Given the description of an element on the screen output the (x, y) to click on. 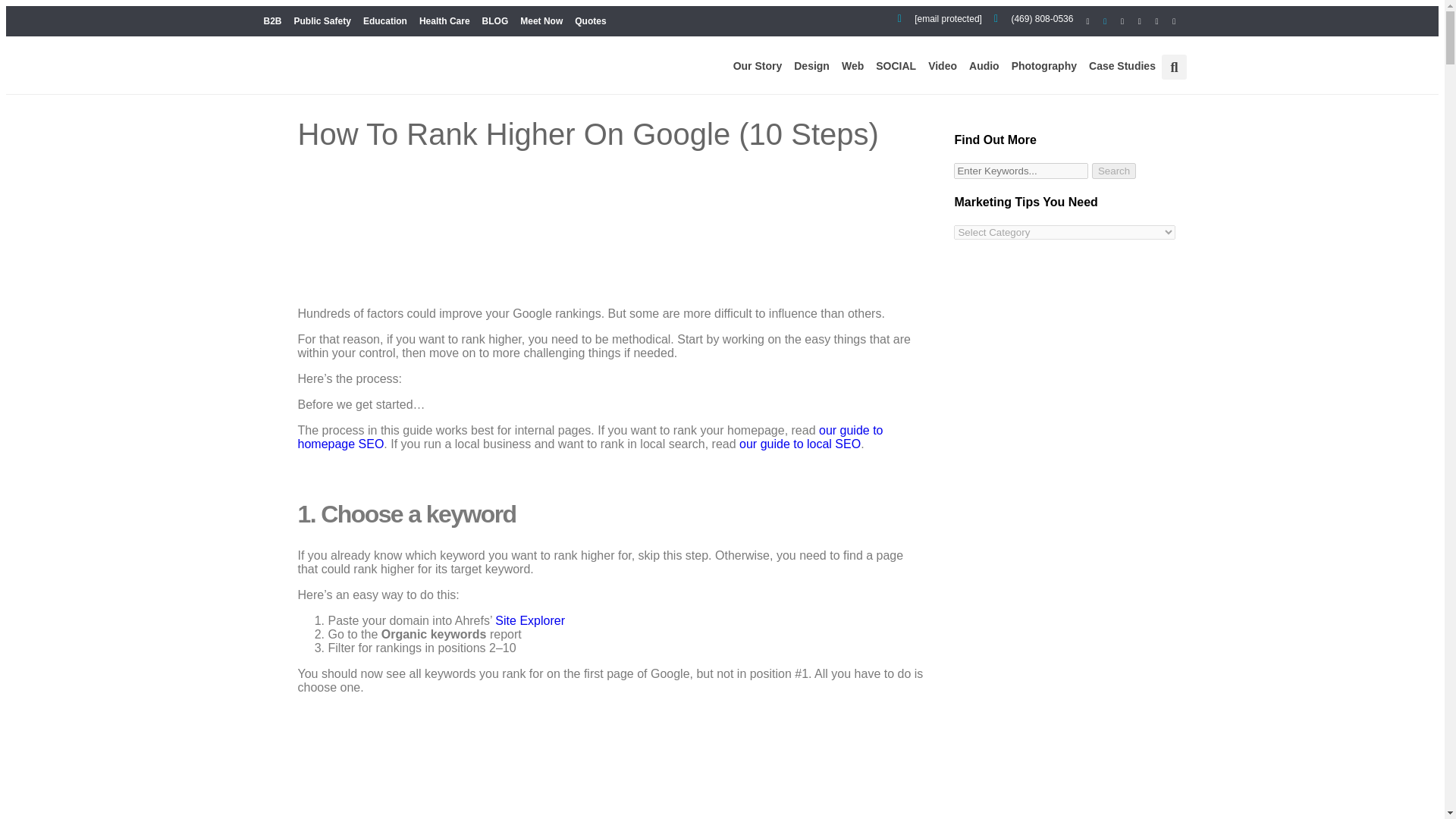
Design (811, 65)
Quotes (590, 20)
Education (384, 20)
BLOG (495, 20)
Our Story (757, 65)
Web (852, 65)
Meet Now (541, 20)
SOCIAL (895, 65)
Public Safety (322, 20)
Health Care (444, 20)
B2B (272, 20)
Search (1113, 170)
